Given the description of an element on the screen output the (x, y) to click on. 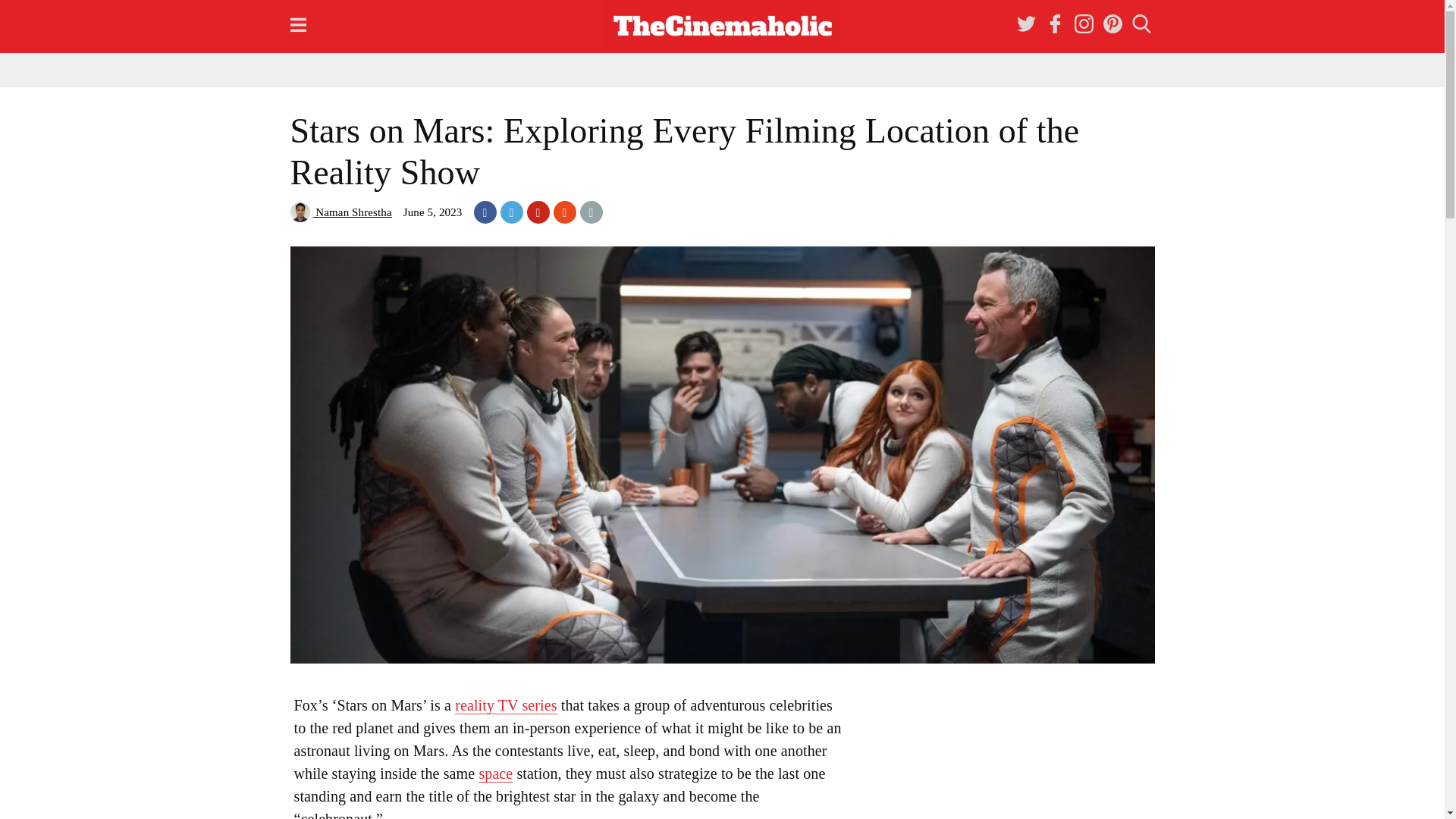
space (495, 773)
reality TV series (505, 705)
Naman Shrestha (340, 212)
